Given the description of an element on the screen output the (x, y) to click on. 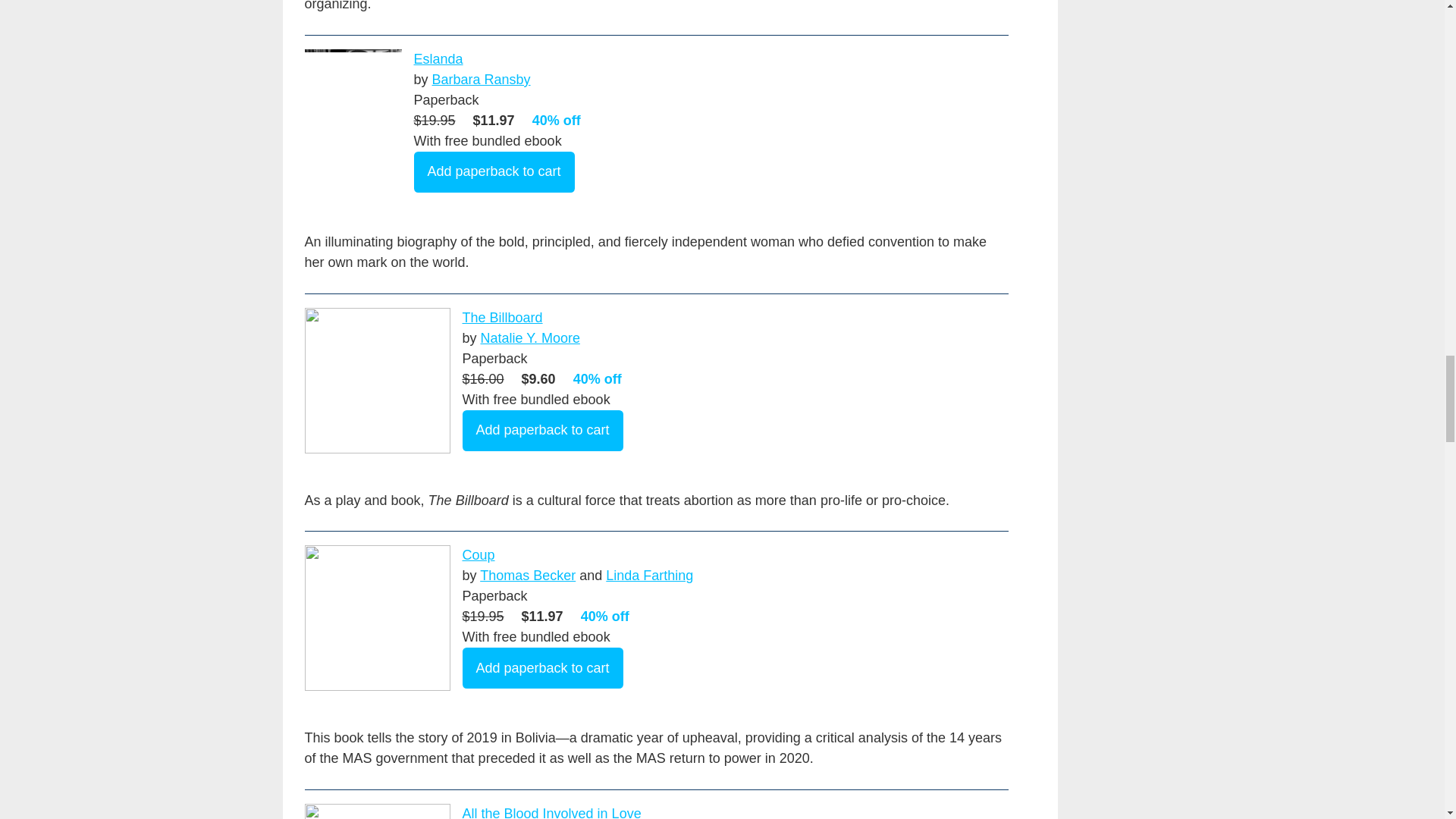
Add paperback to cart (543, 430)
Add paperback to cart (494, 171)
Add paperback to cart (543, 667)
